Given the description of an element on the screen output the (x, y) to click on. 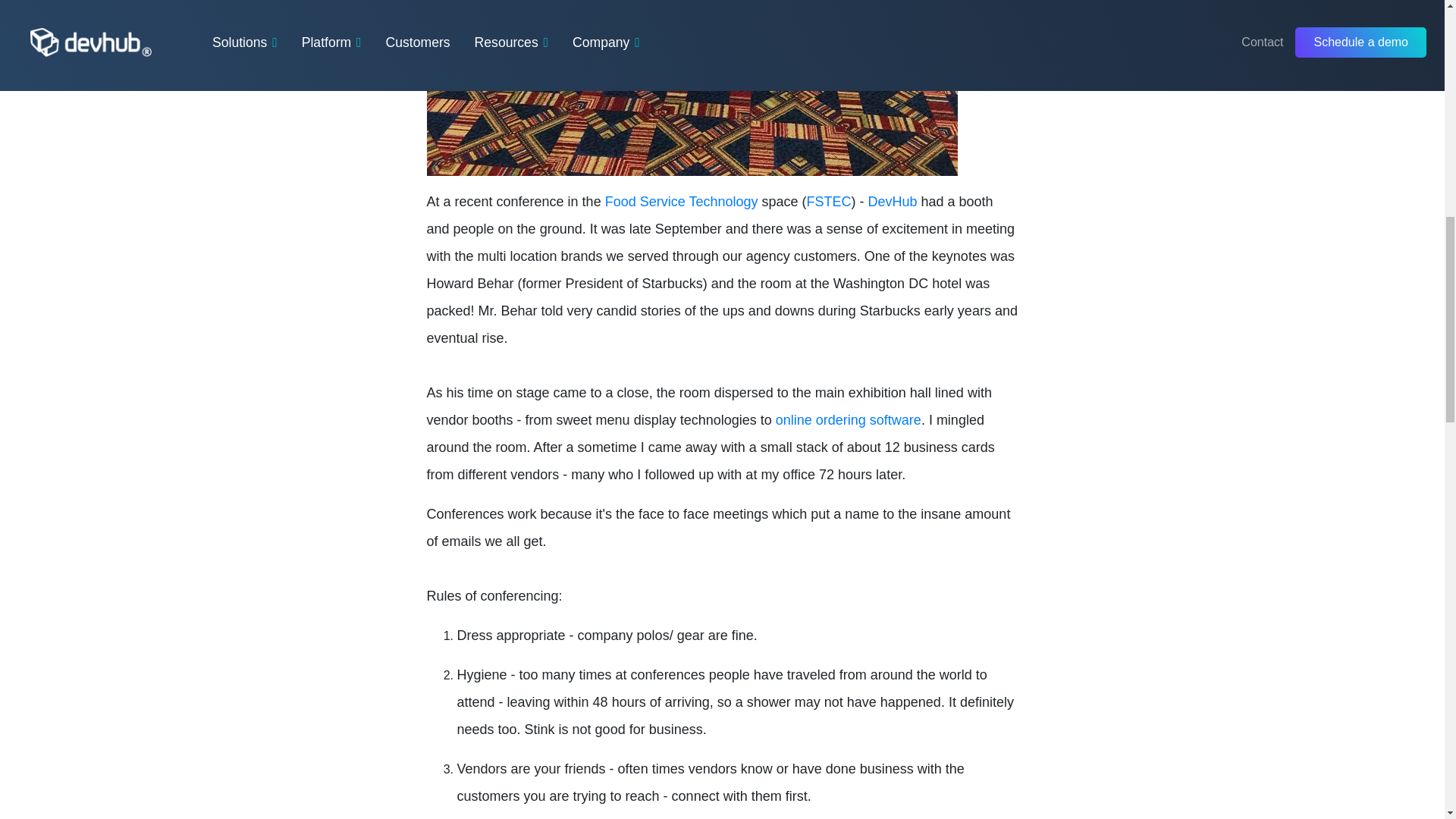
Food Service Technology (681, 201)
online ordering software (848, 419)
DevHub (892, 201)
FSTEC (828, 201)
